Given the description of an element on the screen output the (x, y) to click on. 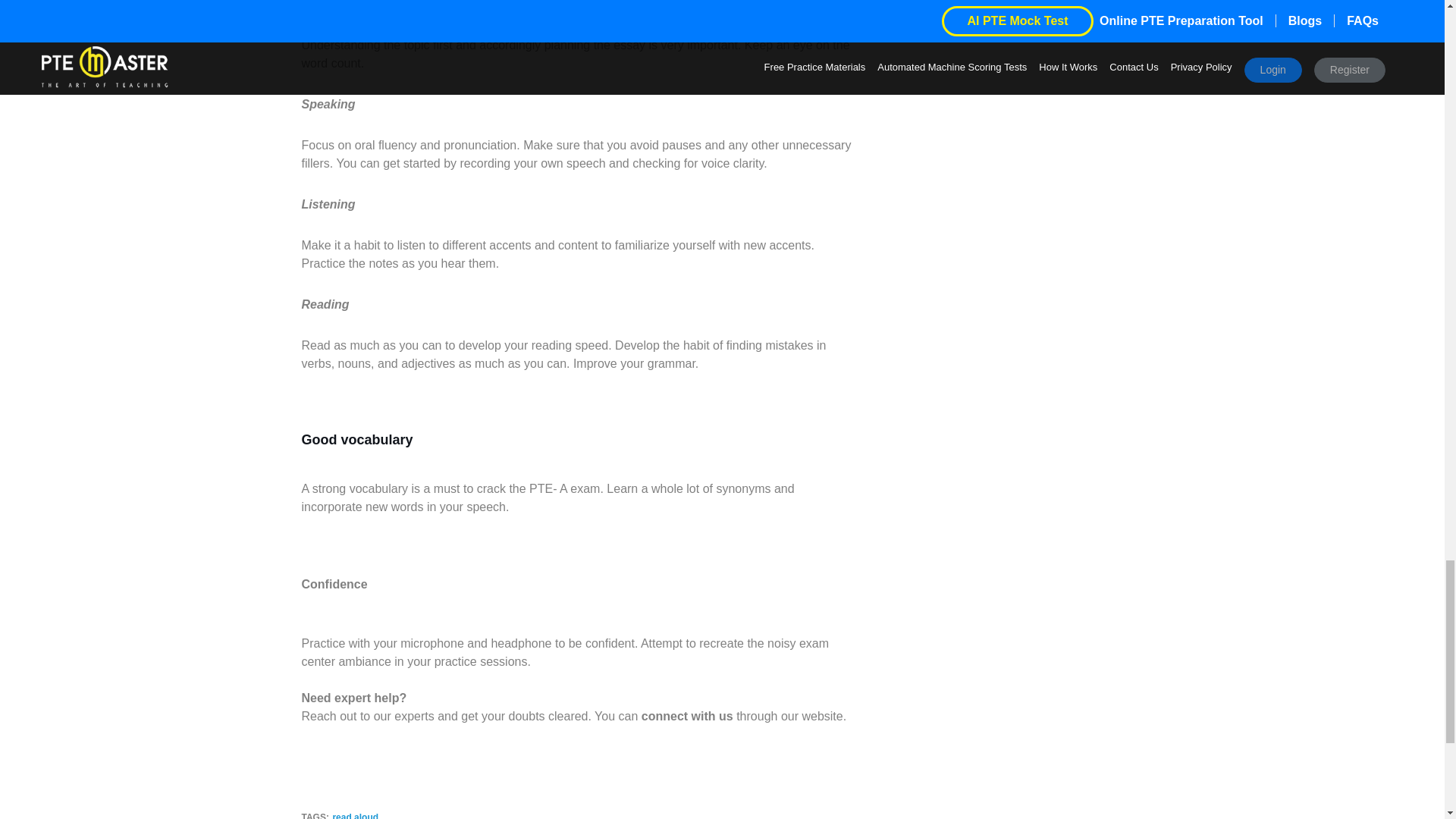
Reading (325, 304)
Writing (322, 5)
Listening (328, 204)
read aloud (354, 815)
connect with us (687, 716)
Speaking (328, 103)
